Given the description of an element on the screen output the (x, y) to click on. 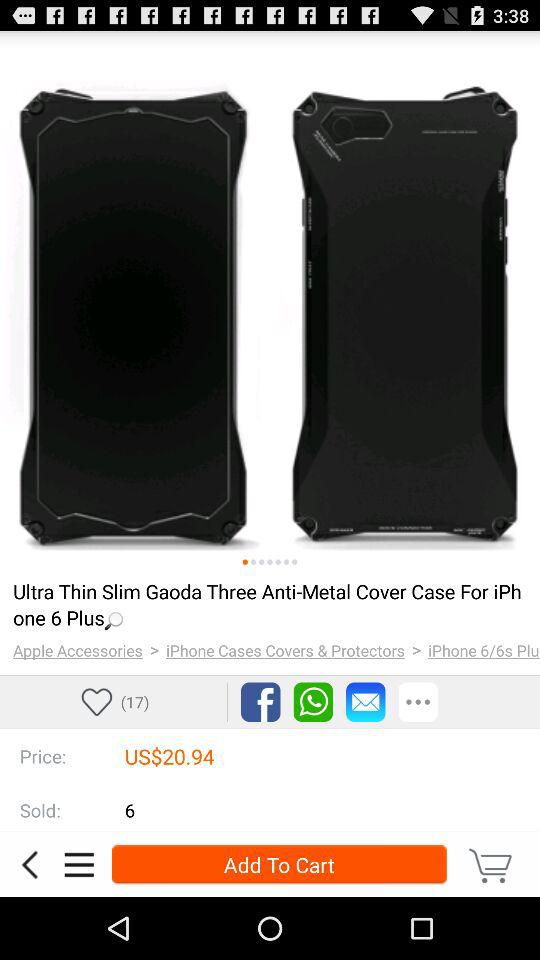
email us (365, 701)
